Given the description of an element on the screen output the (x, y) to click on. 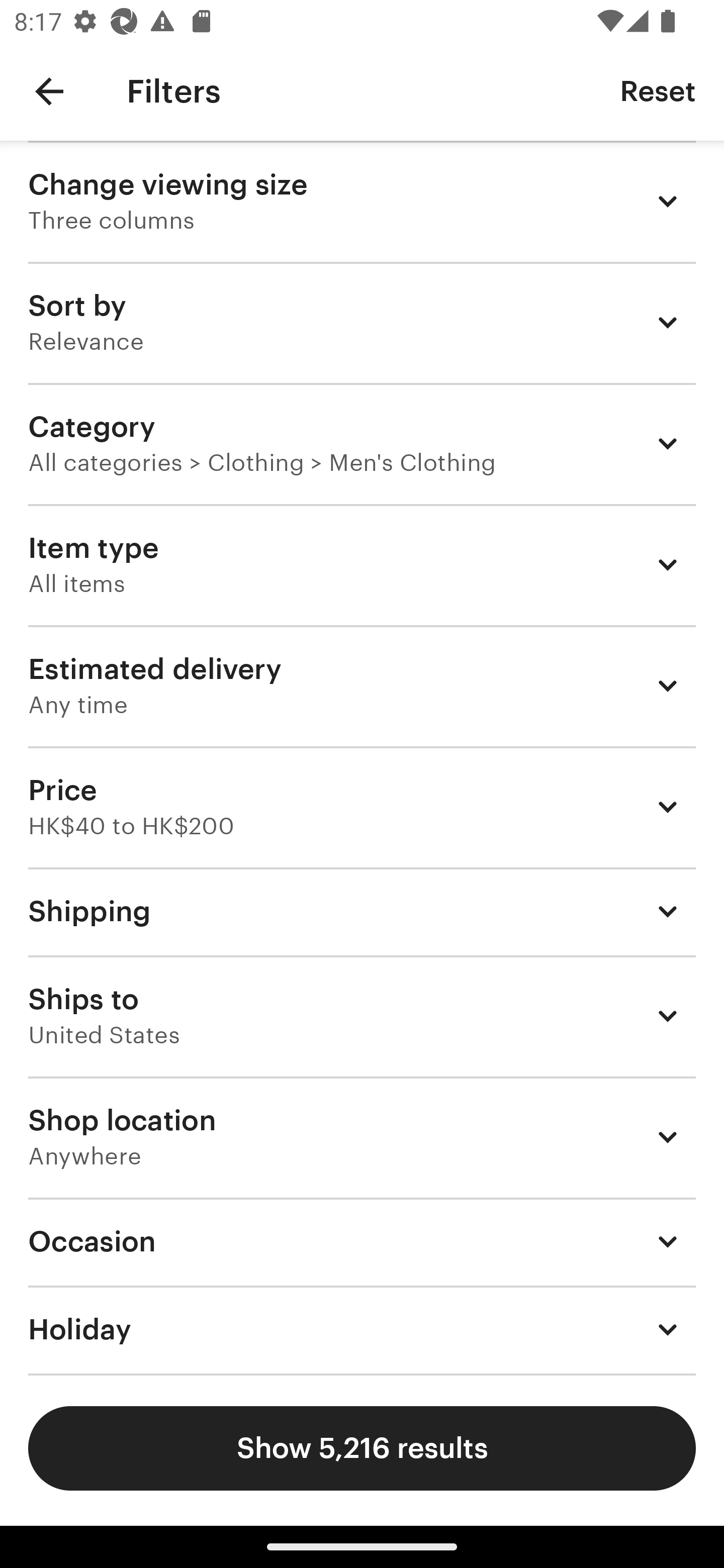
Navigate up (49, 91)
Reset (657, 90)
Change viewing size Three columns (362, 201)
Sort by Relevance (362, 321)
Item type All items (362, 564)
Estimated delivery Any time (362, 685)
Price HK$40 to HK$200 (362, 806)
Shipping (362, 910)
Ships to United States (362, 1015)
Shop location Anywhere (362, 1137)
Occasion (362, 1241)
Holiday (362, 1329)
Show 5,216 results Show results (361, 1448)
